Given the description of an element on the screen output the (x, y) to click on. 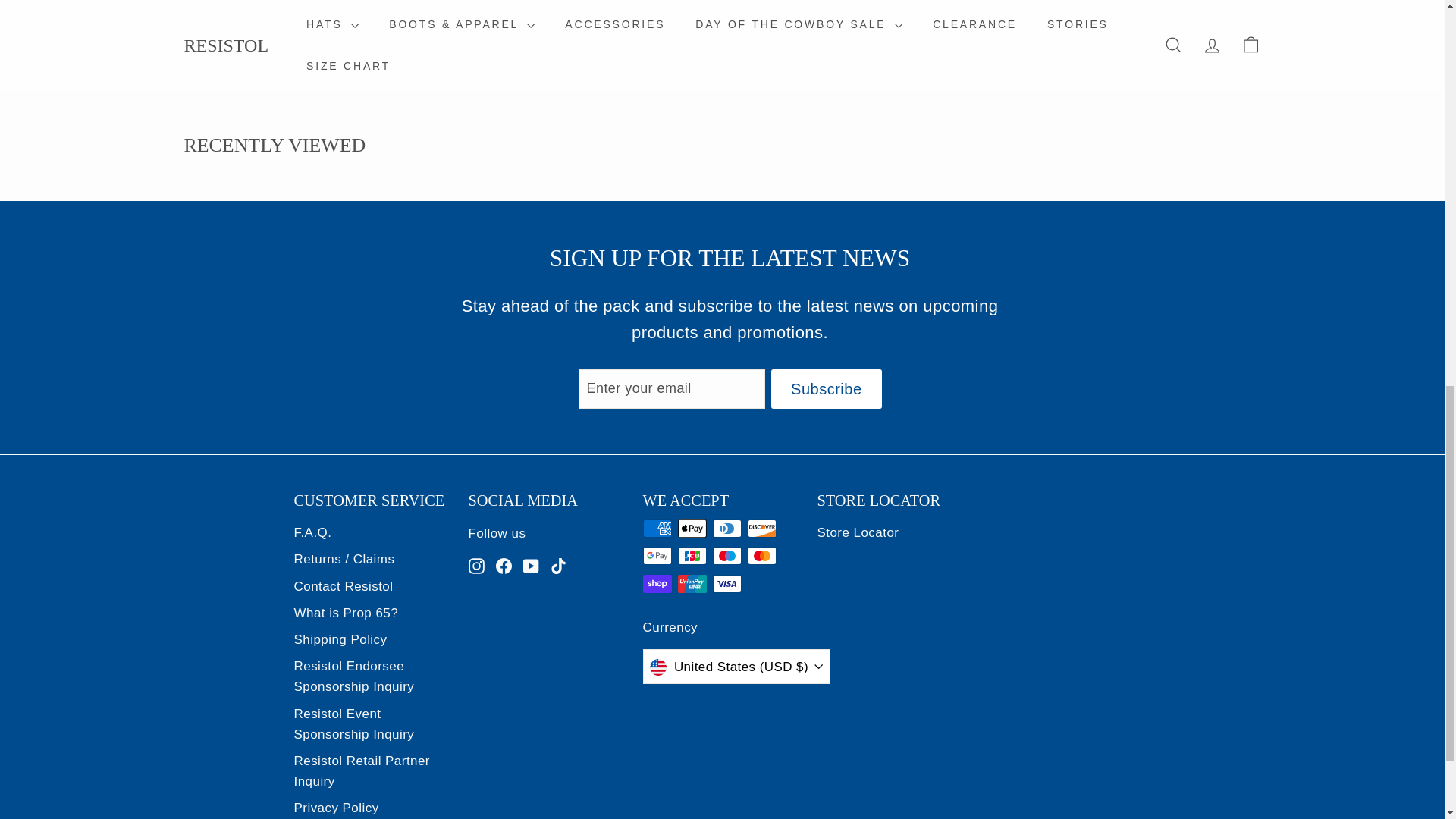
instagram (476, 565)
American Express (657, 528)
